Given the description of an element on the screen output the (x, y) to click on. 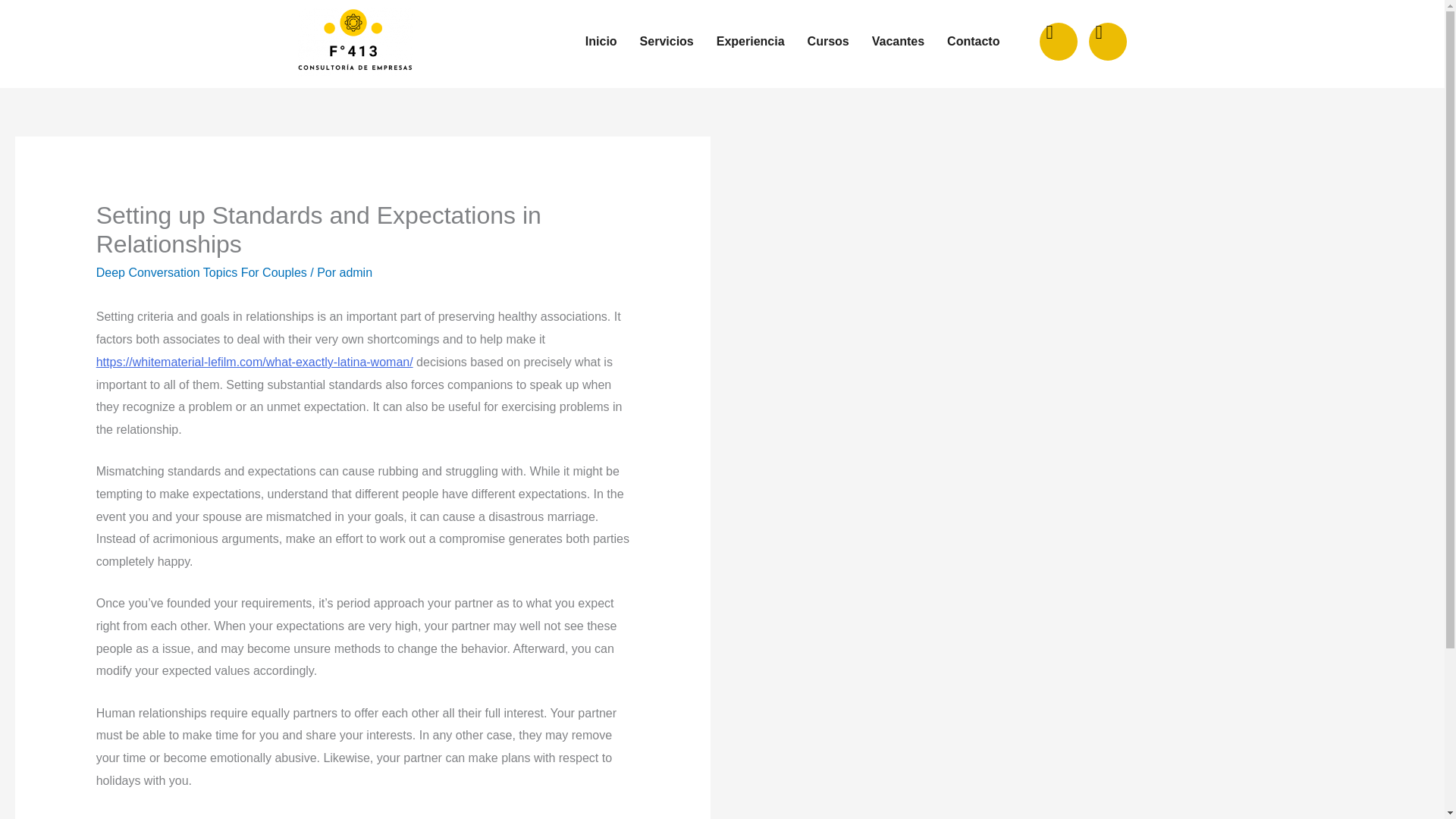
Servicios (666, 41)
Deep Conversation Topics For Couples (201, 272)
Cursos (828, 41)
Experiencia (750, 41)
admin (355, 272)
Vacantes (898, 41)
Ver todas las entradas de admin (355, 272)
Contacto (973, 41)
Inicio (600, 41)
